Given the description of an element on the screen output the (x, y) to click on. 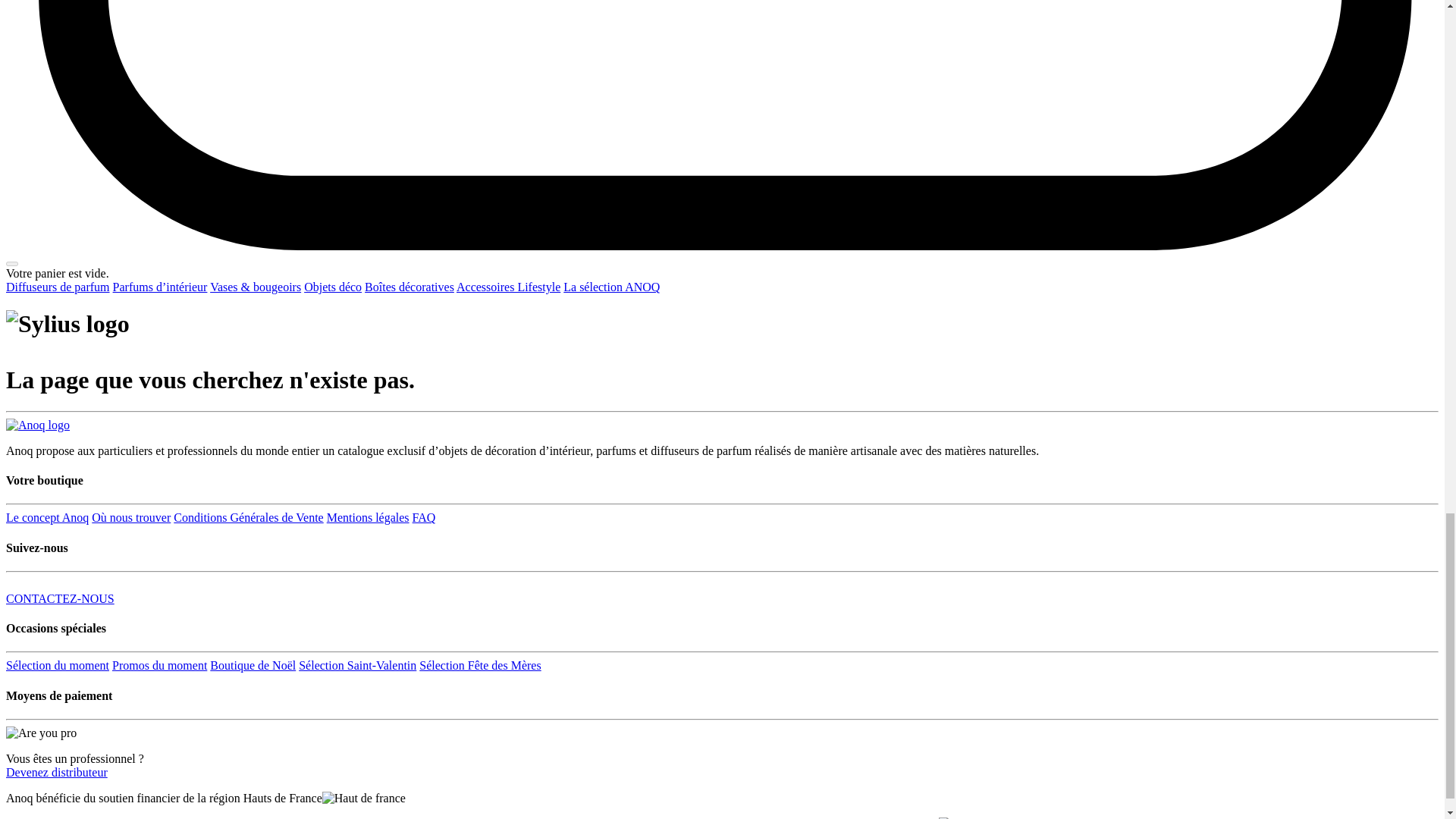
Le concept Anoq (46, 517)
CONTACTEZ-NOUS (60, 598)
Diffuseurs de parfum (57, 286)
Accessoires Lifestyle (508, 286)
Promos du moment (159, 665)
FAQ (423, 517)
Devenez distributeur (56, 771)
